Given the description of an element on the screen output the (x, y) to click on. 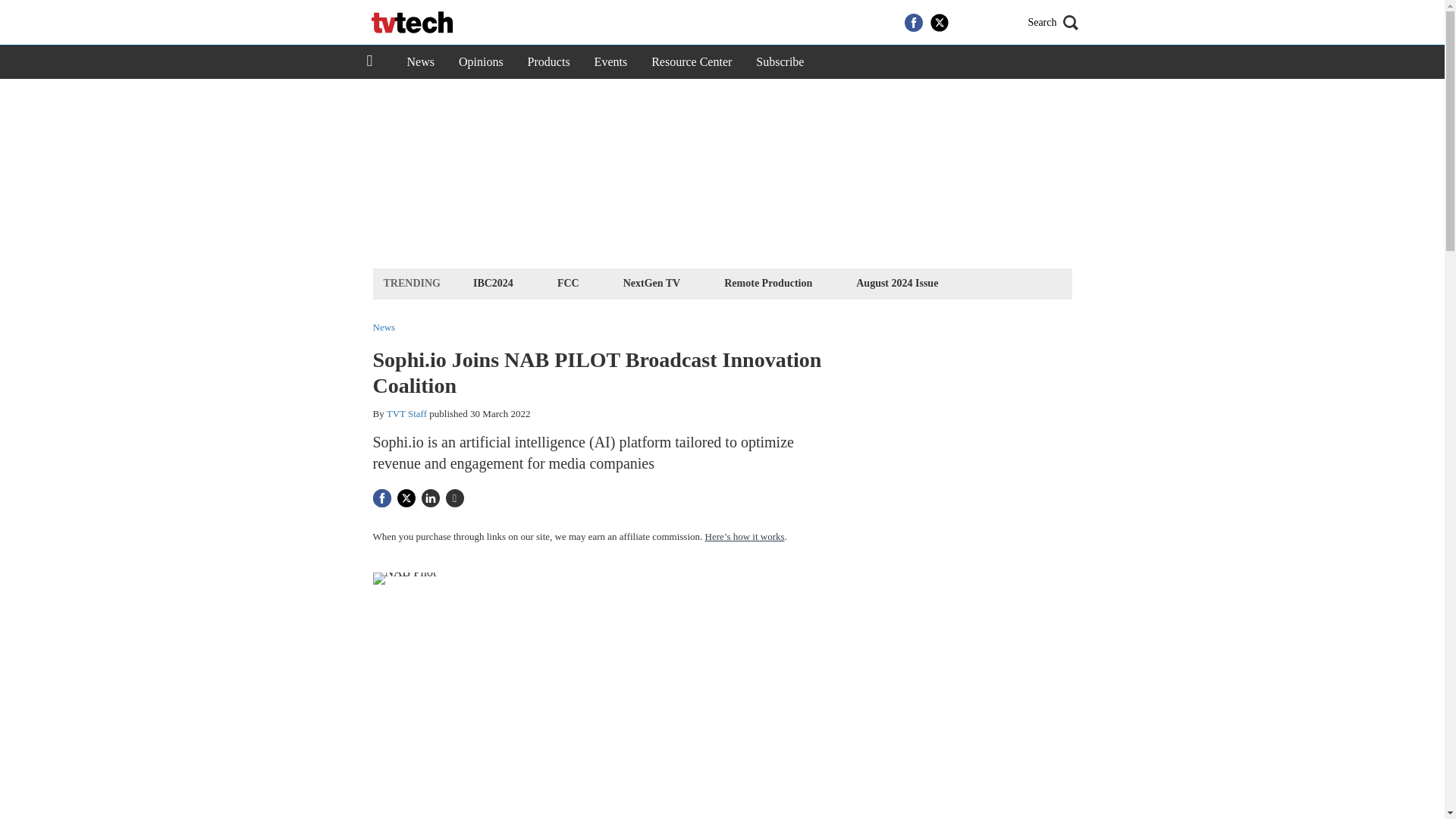
NextGen TV (651, 282)
Subscribe (779, 61)
Opinions (480, 61)
RSS (990, 22)
Remote Production (767, 282)
Resource Center (691, 61)
Products (548, 61)
August 2024 Issue (896, 282)
FCC (568, 282)
Events (611, 61)
